Given the description of an element on the screen output the (x, y) to click on. 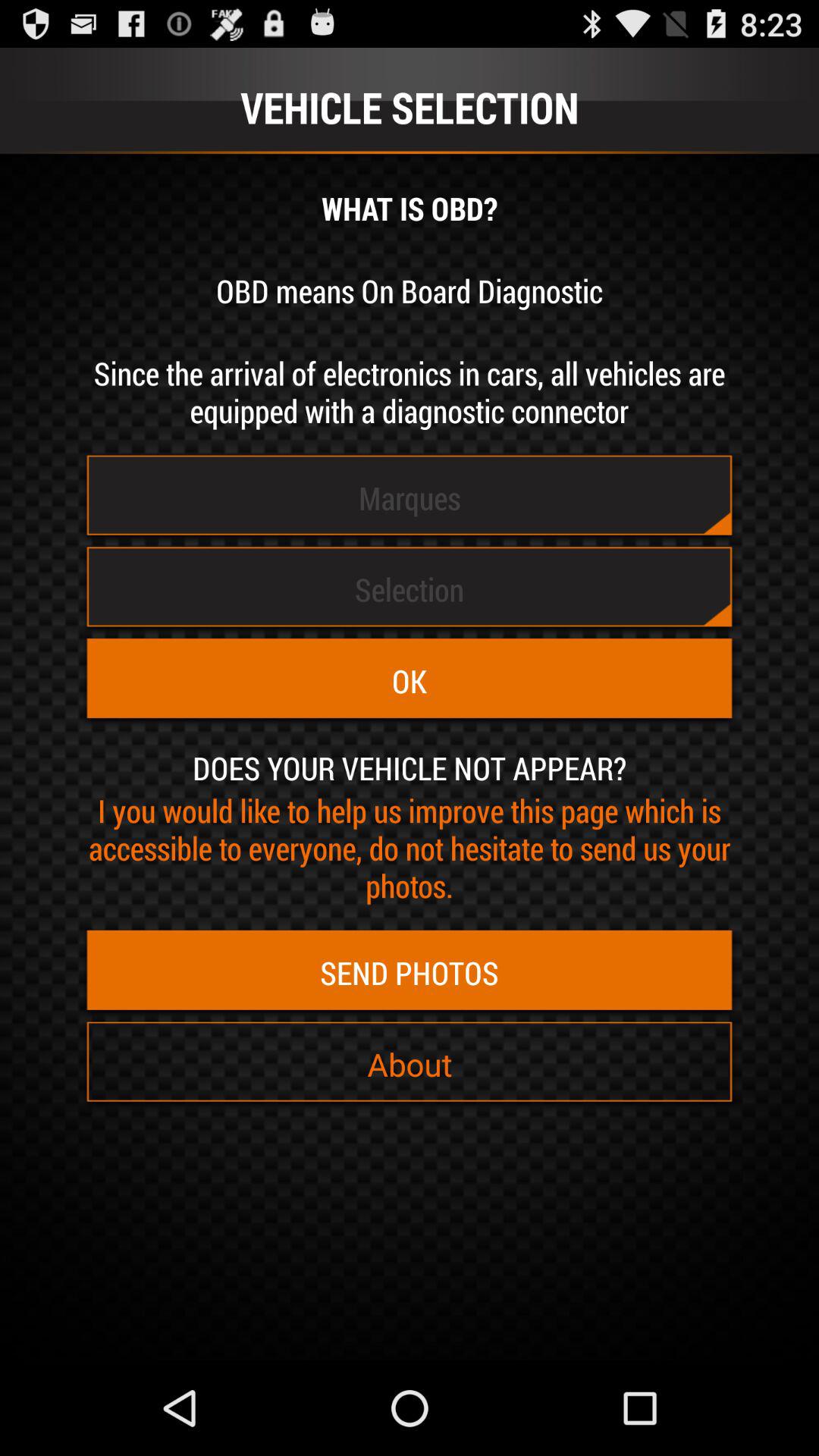
choose the icon above the selection item (409, 497)
